Given the description of an element on the screen output the (x, y) to click on. 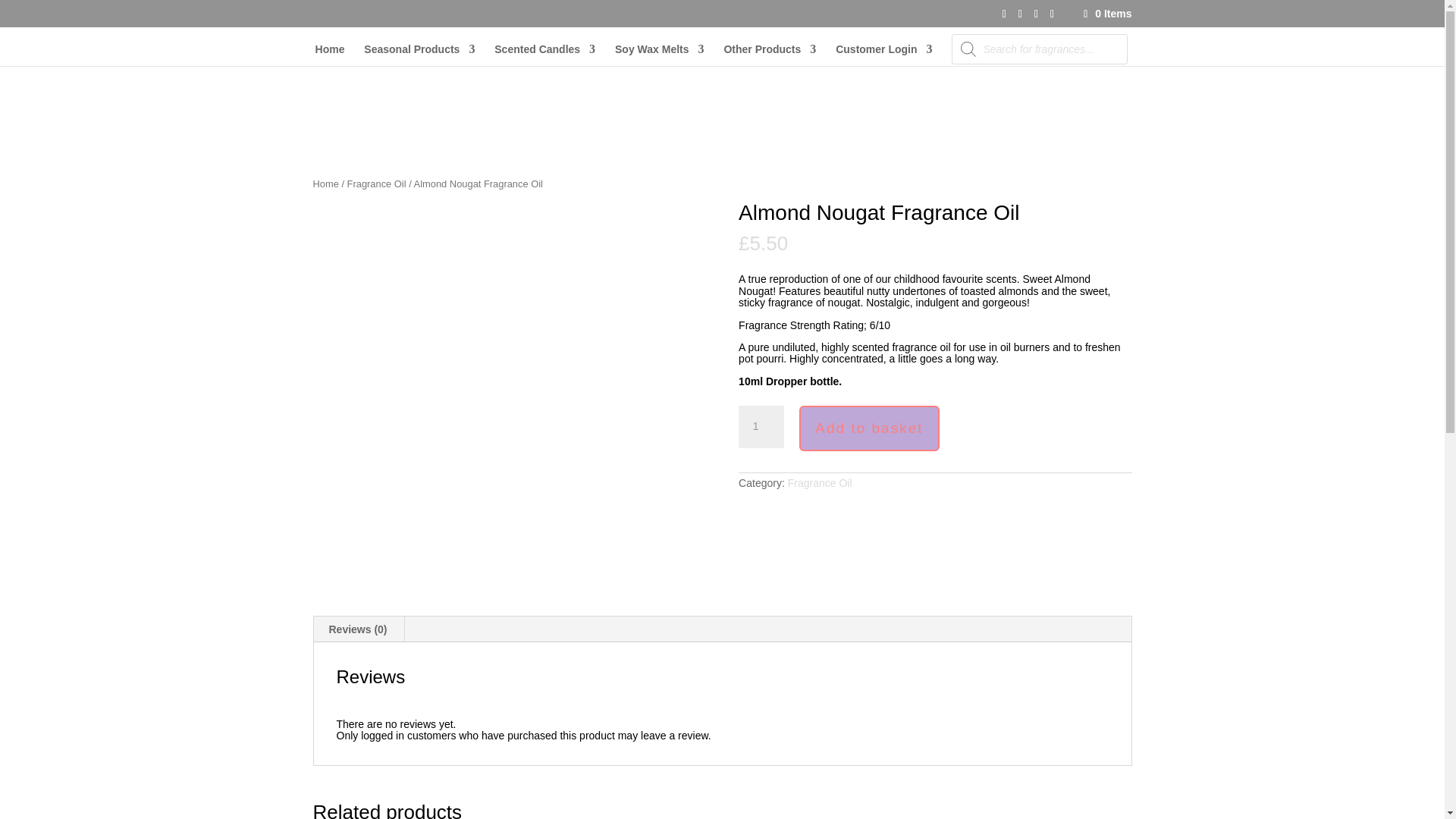
Customer Login (883, 55)
Fragrance Oil (819, 482)
Fragrance Oil (376, 183)
Other Products (769, 55)
1 (761, 426)
Seasonal Products (419, 55)
Soy Wax Melts (659, 55)
0 Items (1105, 13)
Add to basket (869, 428)
Scented Candles (545, 55)
